Given the description of an element on the screen output the (x, y) to click on. 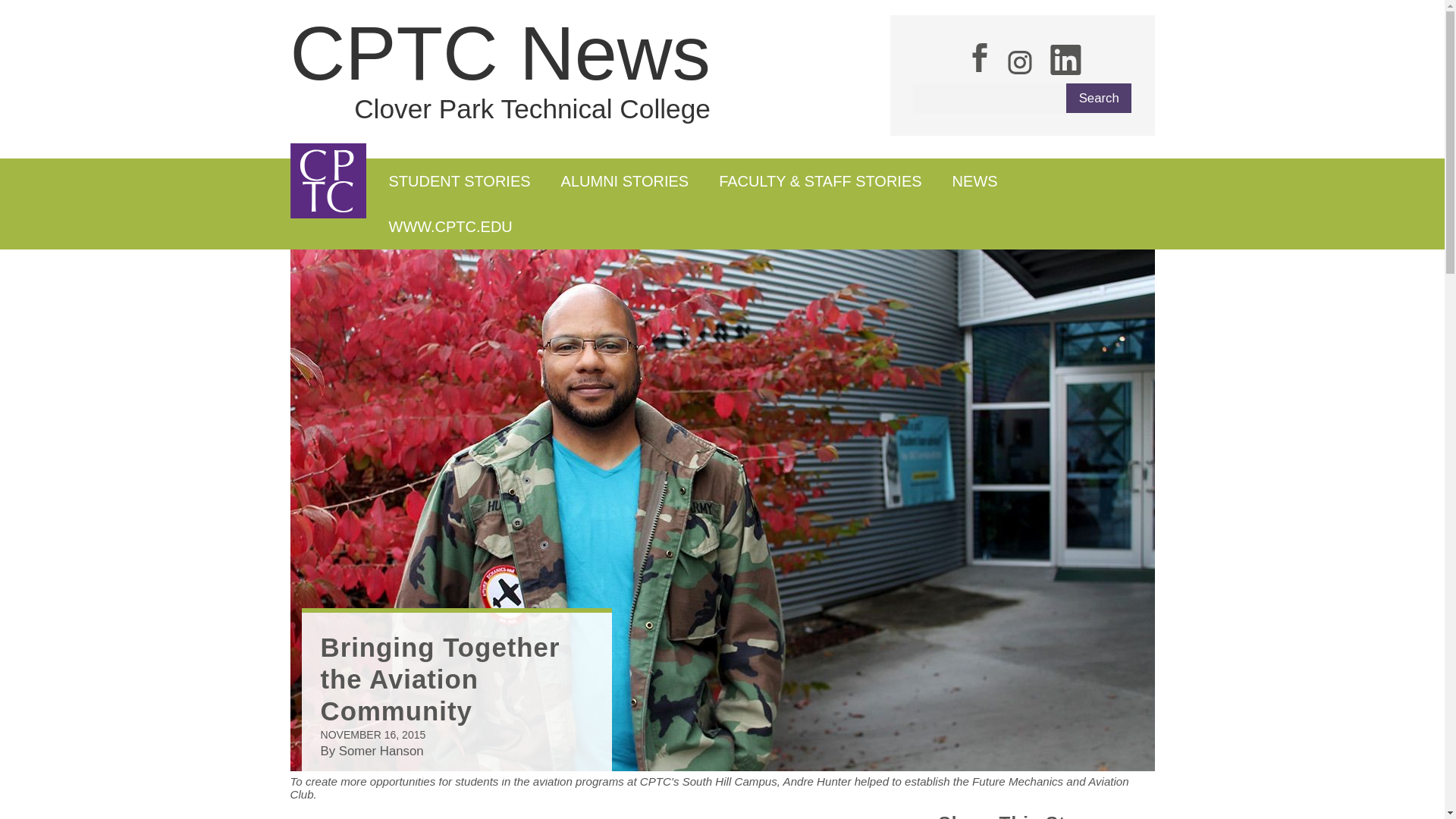
NEWS (975, 180)
CPTC News (499, 53)
Search (1098, 98)
ALUMNI STORIES (625, 180)
Search (1098, 98)
WWW.CPTC.EDU (449, 226)
STUDENT STORIES (458, 180)
Search (1098, 98)
Clover Park Technical College (531, 109)
